Given the description of an element on the screen output the (x, y) to click on. 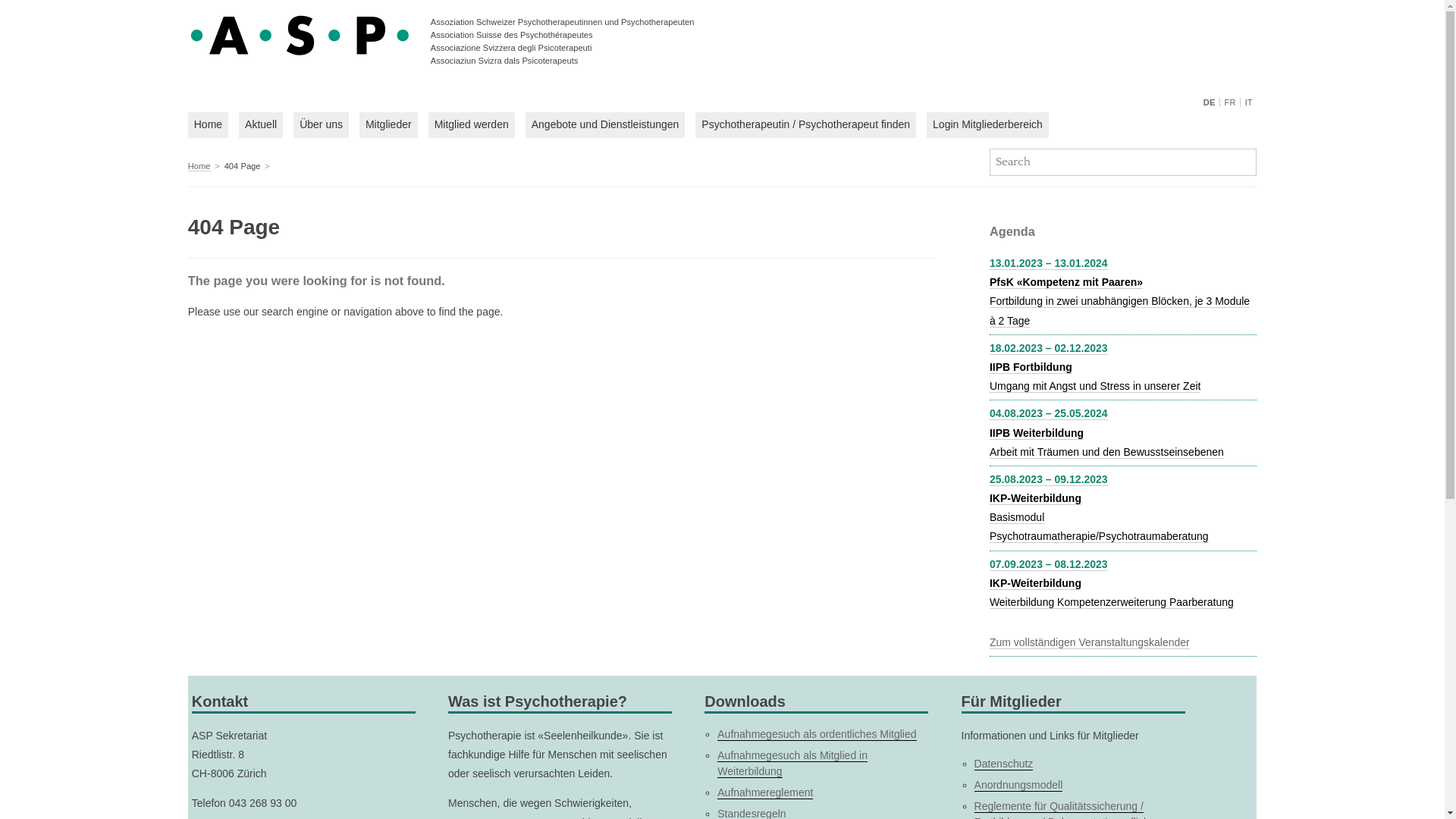
Aufnahmereglement Element type: text (764, 792)
Aktuell Element type: text (260, 125)
Login Mitgliederbereich Element type: text (987, 125)
Anordnungsmodell Element type: text (1018, 784)
IT Element type: text (1247, 101)
Mitglieder Element type: text (388, 125)
Mitglied werden Element type: text (471, 125)
Home Element type: text (199, 166)
Angebote und Dienstleistungen Element type: text (605, 125)
FR Element type: text (1229, 101)
Aufnahmegesuch als ordentliches Mitglied Element type: text (816, 734)
DE Element type: text (1211, 101)
Home Element type: text (208, 125)
Aufnahmegesuch als Mitglied in Weiterbildung Element type: text (792, 763)
Datenschutz Element type: text (1003, 763)
Psychotherapeutin / Psychotherapeut finden Element type: text (805, 125)
